Given the description of an element on the screen output the (x, y) to click on. 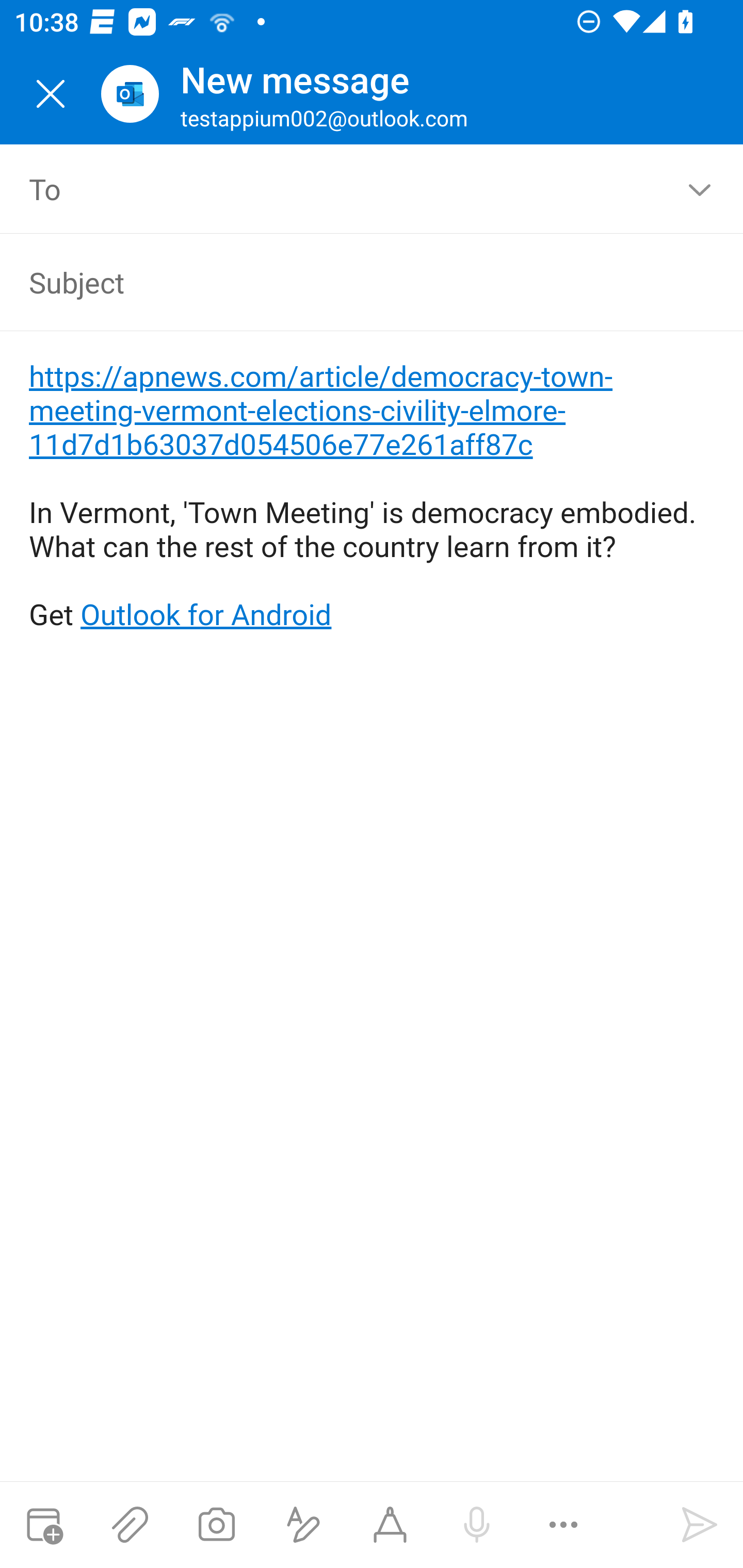
Close (50, 93)
Subject (342, 281)
Attach meeting (43, 1524)
Attach files (129, 1524)
Take a photo (216, 1524)
Show formatting options (303, 1524)
Start Ink compose (389, 1524)
More options (563, 1524)
Send (699, 1524)
